Given the description of an element on the screen output the (x, y) to click on. 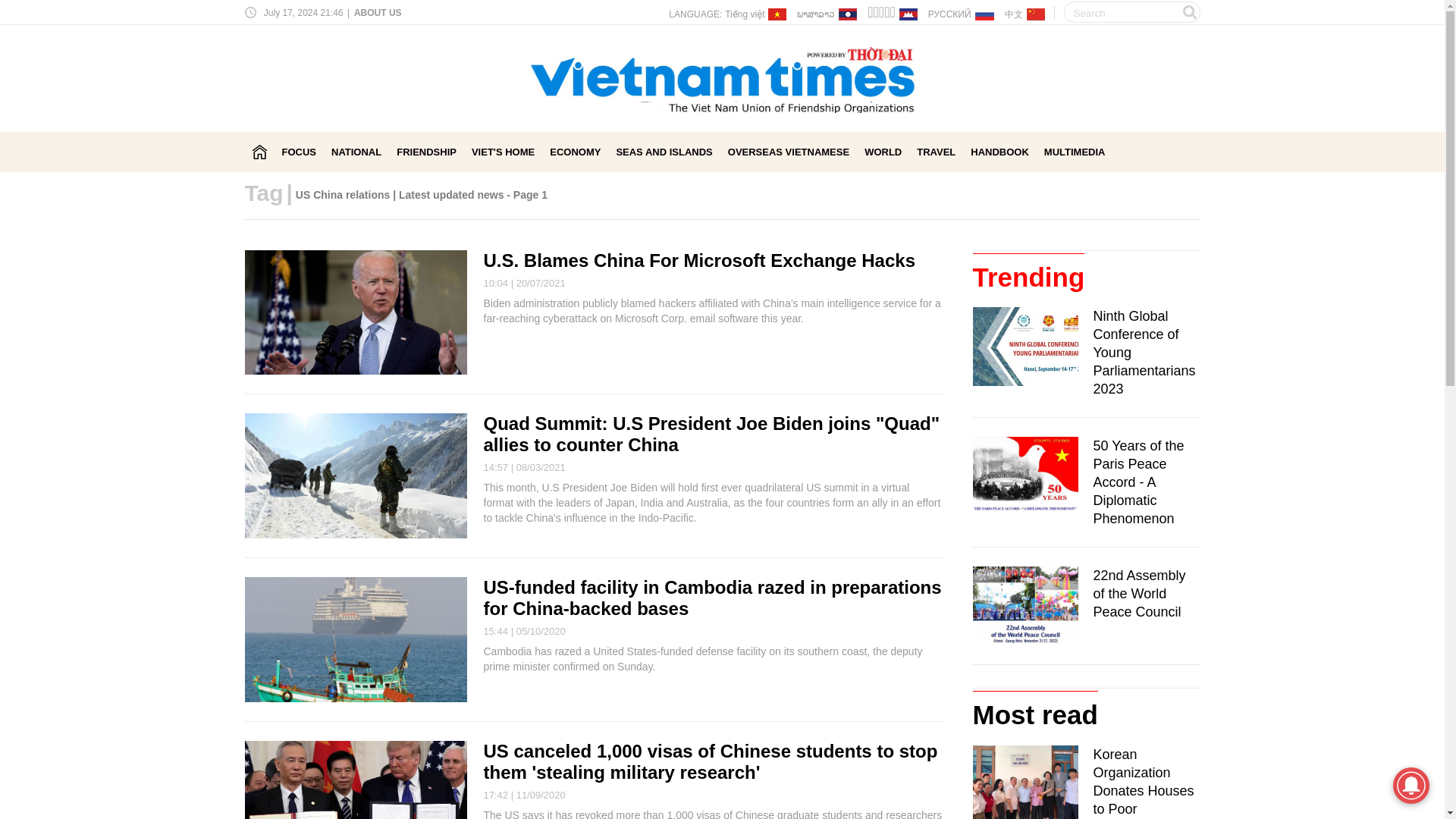
Tag (263, 192)
HANDBOOK (1000, 152)
Tag (263, 192)
VIET'S HOME (502, 152)
NATIONAL (356, 152)
TRAVEL (936, 152)
FOCUS (299, 152)
SEAS AND ISLANDS (663, 152)
ECONOMY (574, 152)
ABOUT US (376, 12)
OVERSEAS VIETNAMESE (788, 152)
FRIENDSHIP (426, 152)
